Given the description of an element on the screen output the (x, y) to click on. 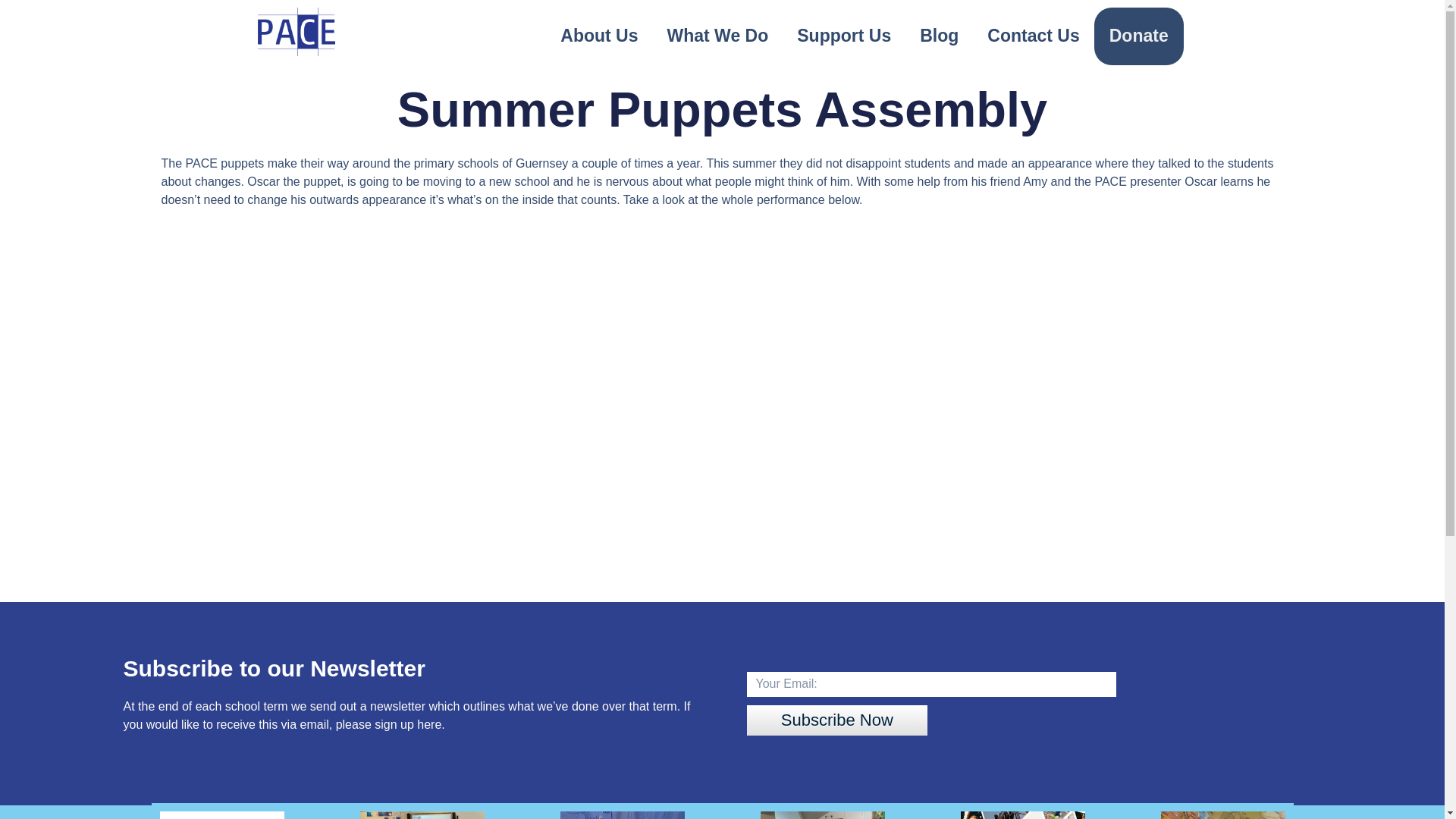
Subscribe Now (836, 720)
What We Do (717, 36)
Support Us (844, 36)
Contact Us (1032, 36)
Donate (1138, 36)
Blog (938, 36)
About Us (599, 36)
